Given the description of an element on the screen output the (x, y) to click on. 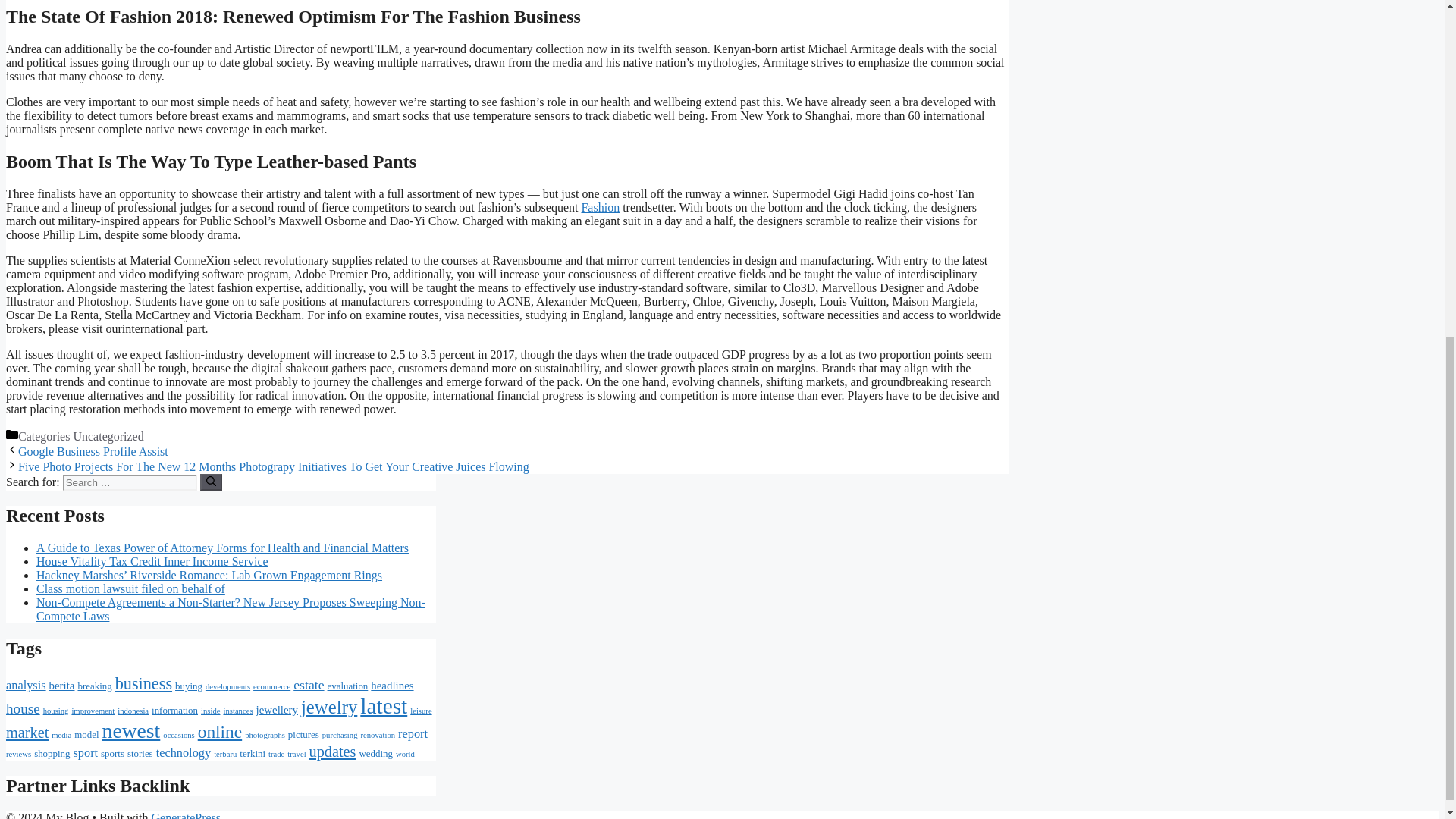
jewellery (277, 709)
berita (62, 685)
buying (188, 685)
latest (383, 705)
Search for: (129, 482)
jewelry (328, 706)
estate (308, 684)
house (22, 708)
breaking (94, 685)
information (174, 709)
indonesia (132, 710)
leisure (420, 710)
business (143, 683)
Google Business Profile Assist (92, 451)
